Given the description of an element on the screen output the (x, y) to click on. 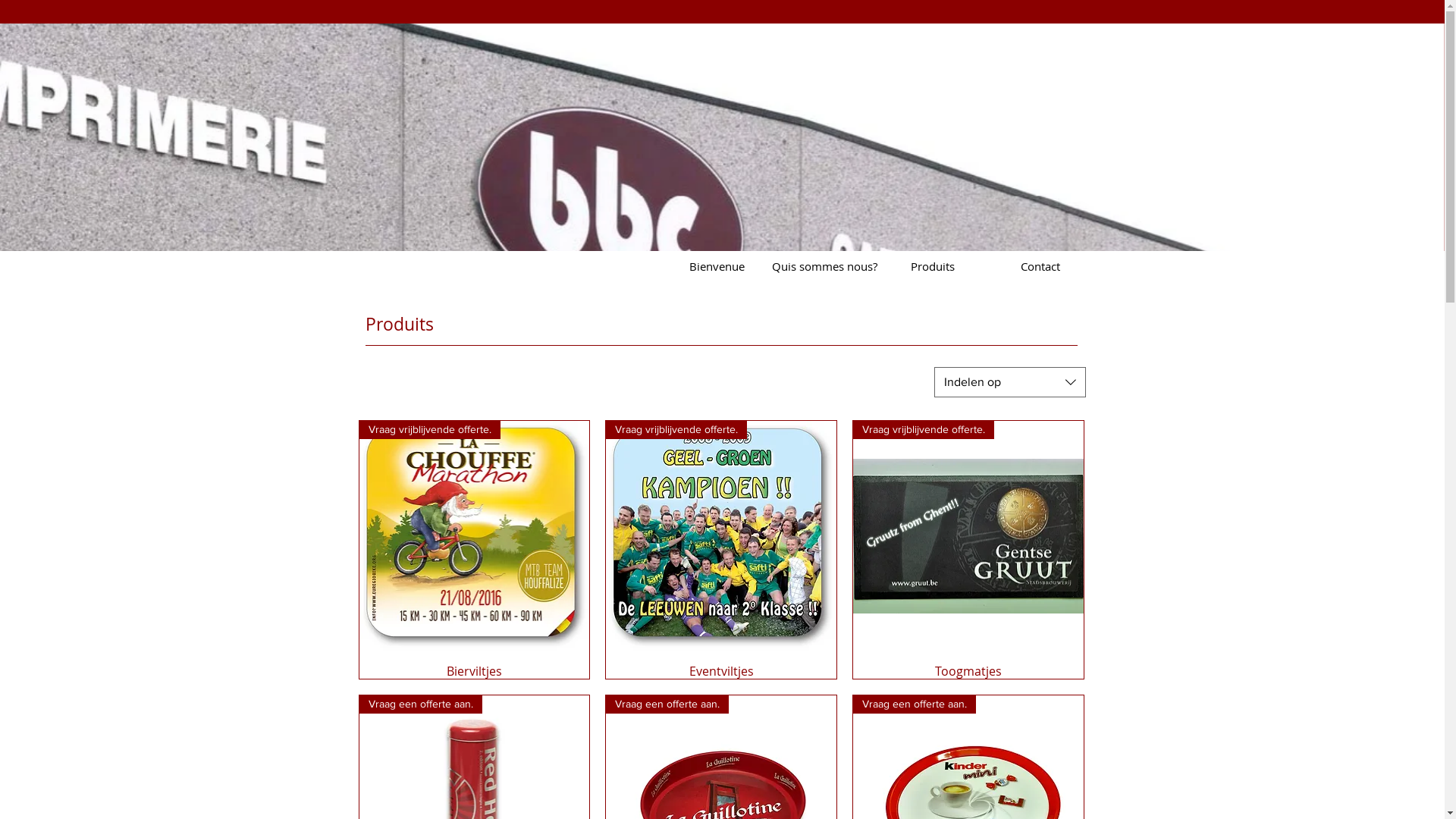
Bienvenue Element type: text (716, 266)
Bierviltjes Element type: text (474, 670)
Quis sommes nous? Element type: text (824, 266)
Vraag vrijblijvende offerte. Element type: text (720, 535)
Produits Element type: text (931, 266)
Contact Element type: text (1039, 266)
Vraag vrijblijvende offerte. Element type: text (474, 535)
Toogmatjes Element type: text (968, 670)
Vraag vrijblijvende offerte. Element type: text (968, 535)
Eventviltjes Element type: text (720, 670)
Indelen op Element type: text (1009, 382)
